Given the description of an element on the screen output the (x, y) to click on. 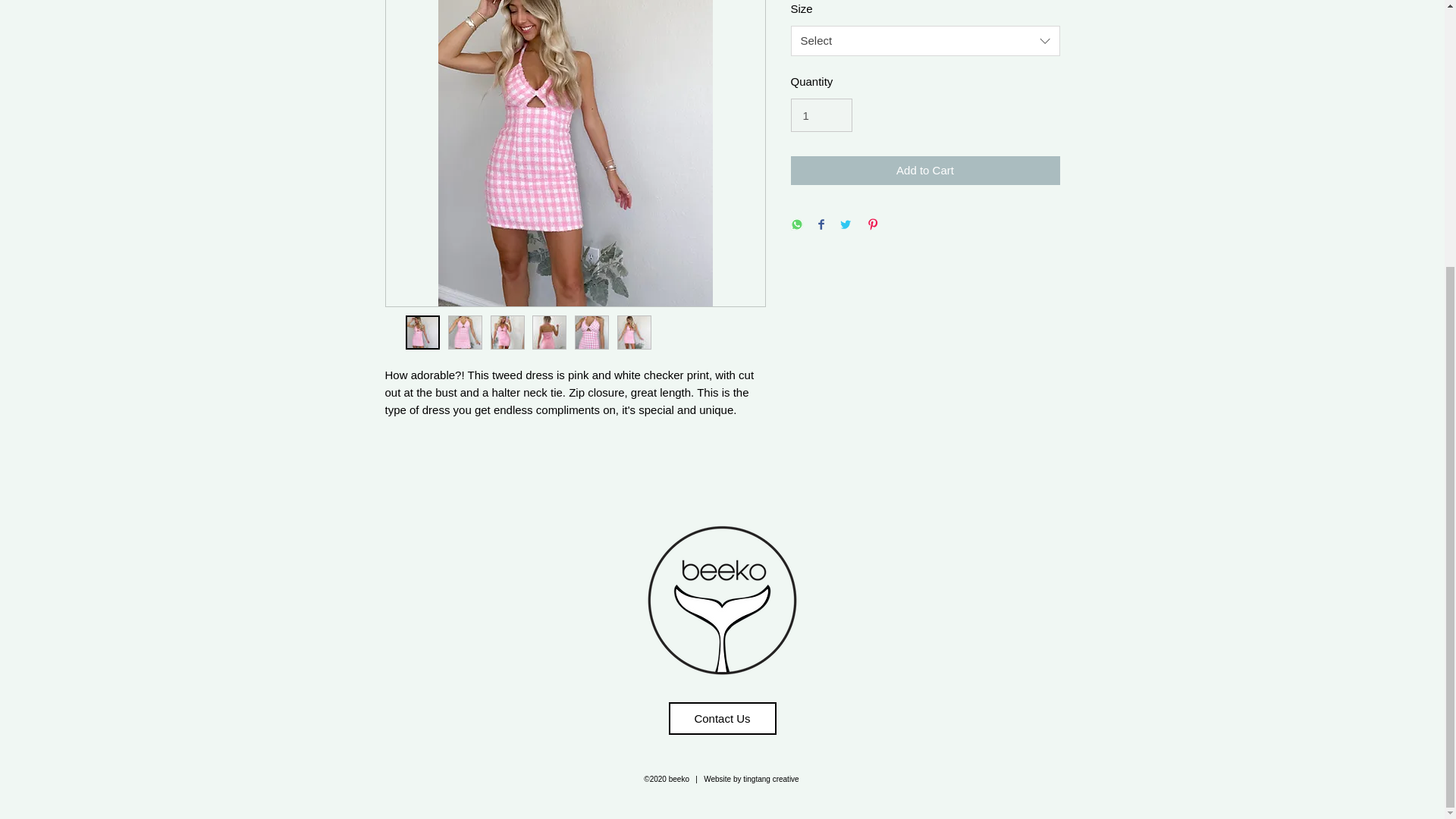
Contact Us (722, 717)
1 (820, 114)
Add to Cart (924, 170)
tingtang creative (769, 778)
Select (924, 40)
